Given the description of an element on the screen output the (x, y) to click on. 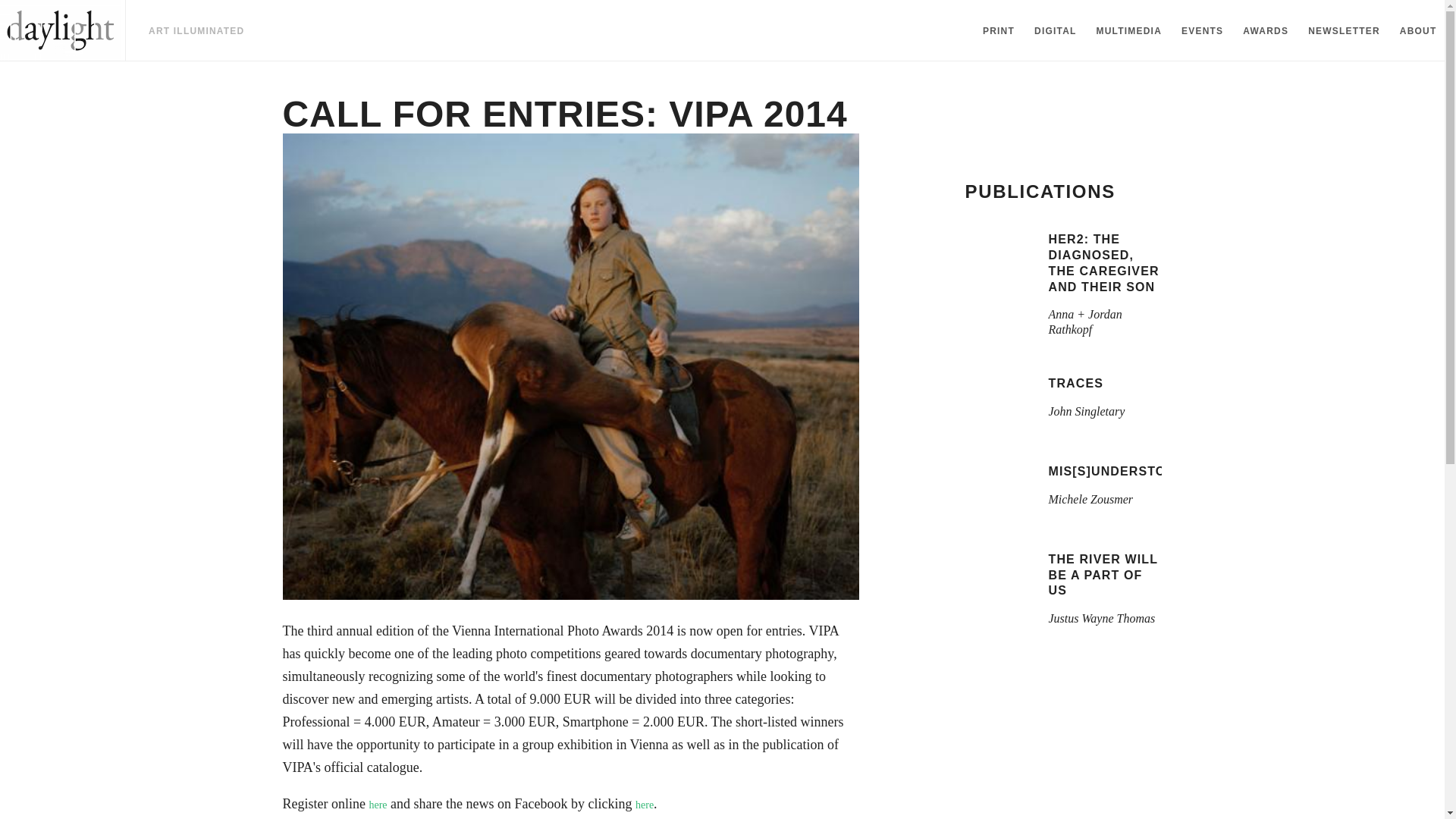
here (643, 804)
MULTIMEDIA (1128, 34)
NEWSLETTER (1062, 406)
here (1344, 34)
PUBLICATIONS (1062, 594)
DAYLIGHT BOOKS (377, 804)
